Given the description of an element on the screen output the (x, y) to click on. 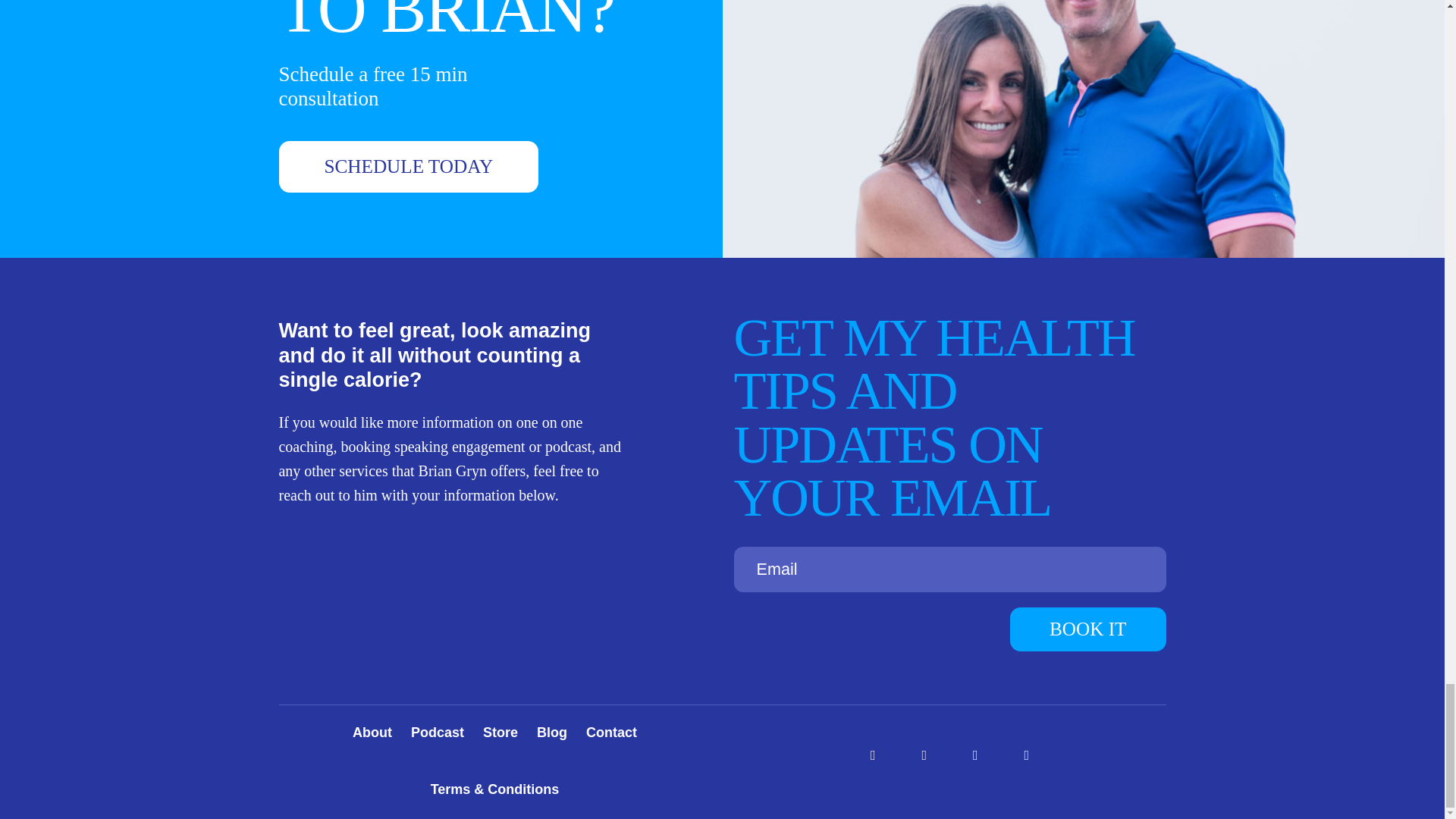
Facebook (873, 755)
Store (500, 733)
Contact (611, 733)
About (371, 733)
Podcast (437, 733)
Blog (552, 733)
Instagram (923, 755)
Twitter (1026, 755)
BOOK IT (1088, 629)
LinkedIn (975, 755)
SCHEDULE TODAY (408, 166)
